Given the description of an element on the screen output the (x, y) to click on. 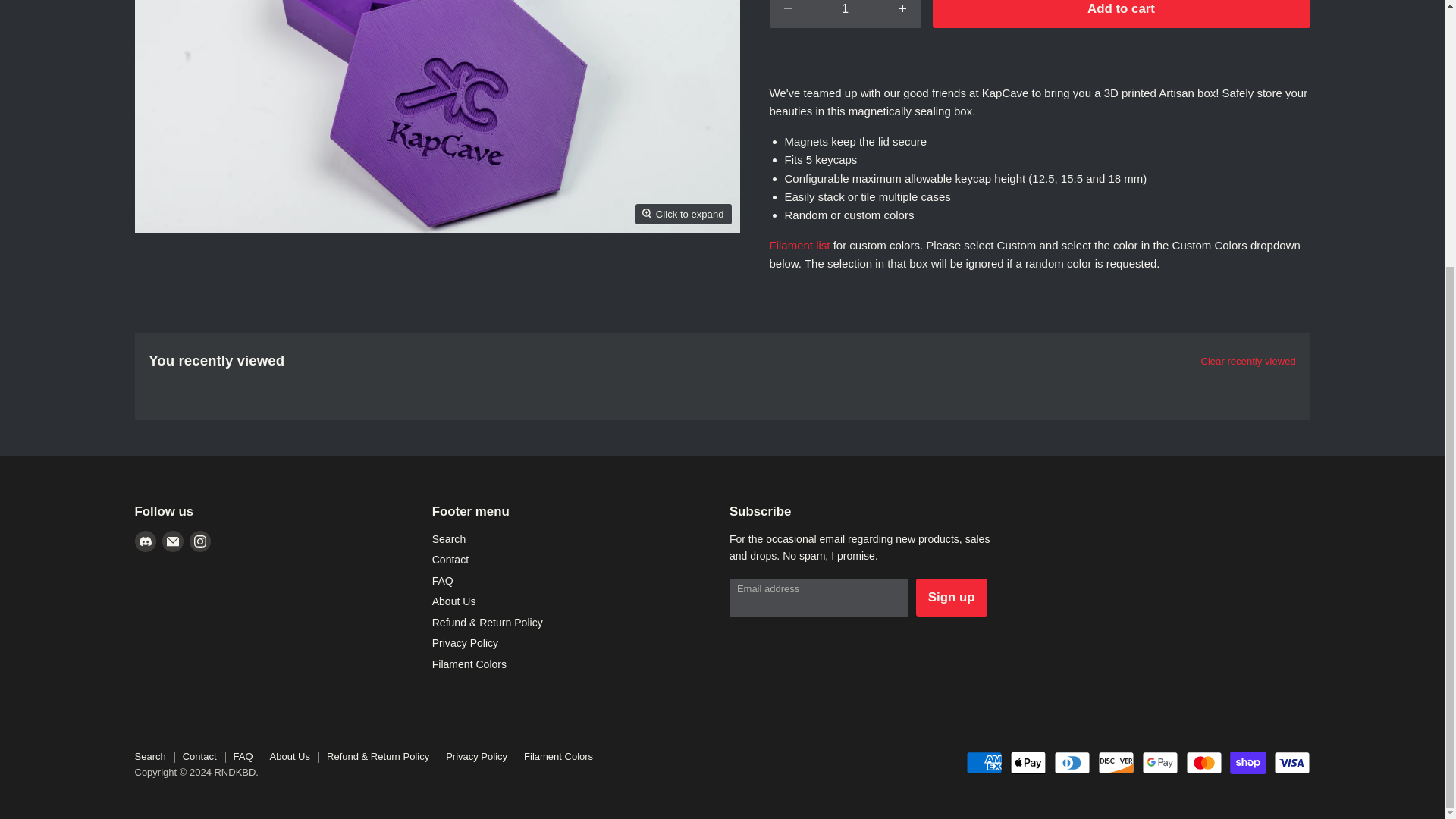
Diners Club (1072, 762)
Email (172, 541)
Apple Pay (1028, 762)
1 (844, 13)
Discord (145, 541)
American Express (984, 762)
Instagram (200, 541)
Filament Colors (798, 245)
